Given the description of an element on the screen output the (x, y) to click on. 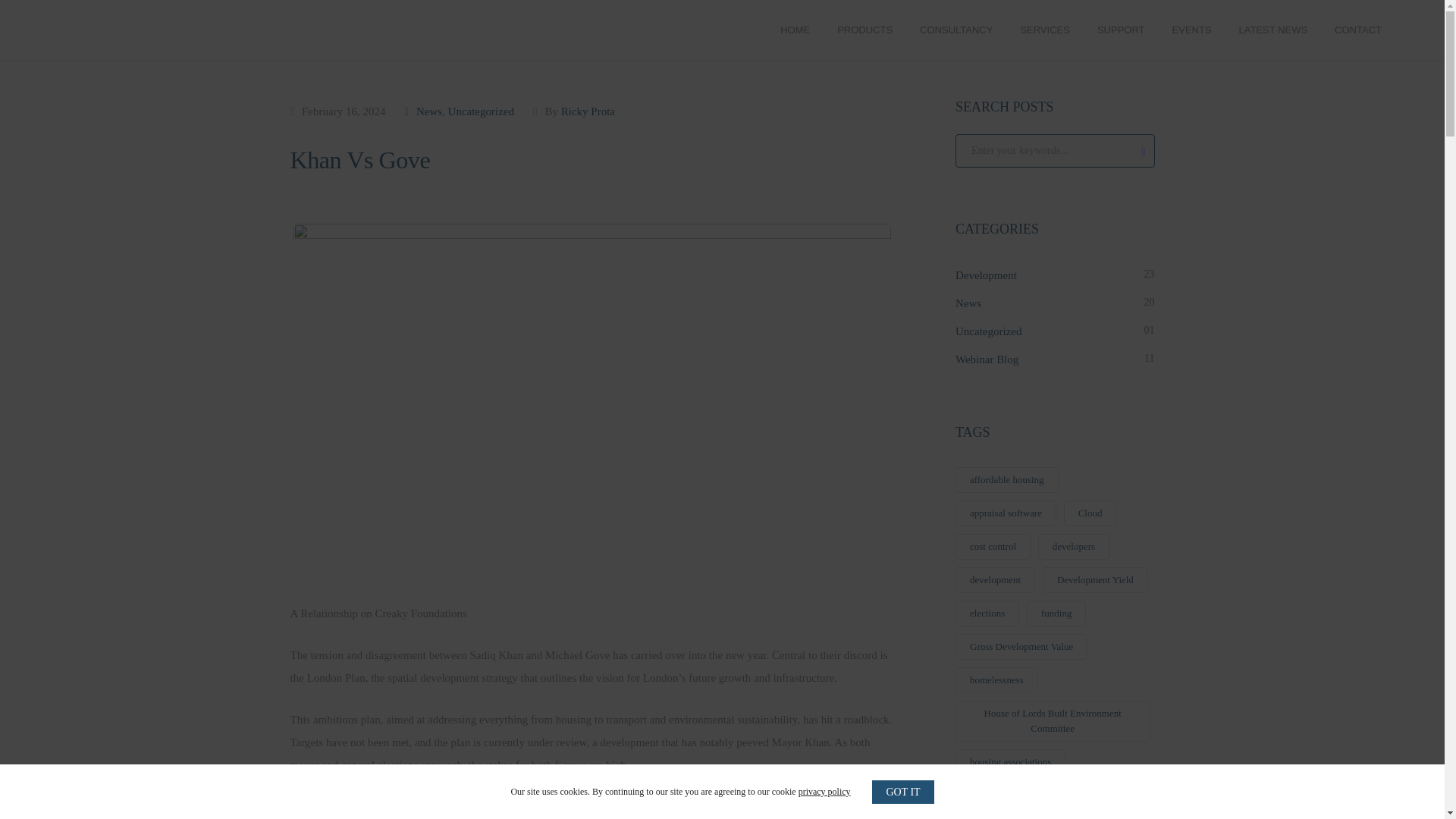
CONSULTANCY (956, 30)
News (429, 111)
PRODUCTS (864, 30)
LATEST NEWS (1273, 30)
Uncategorized (480, 111)
Ricky Prota (587, 111)
